Given the description of an element on the screen output the (x, y) to click on. 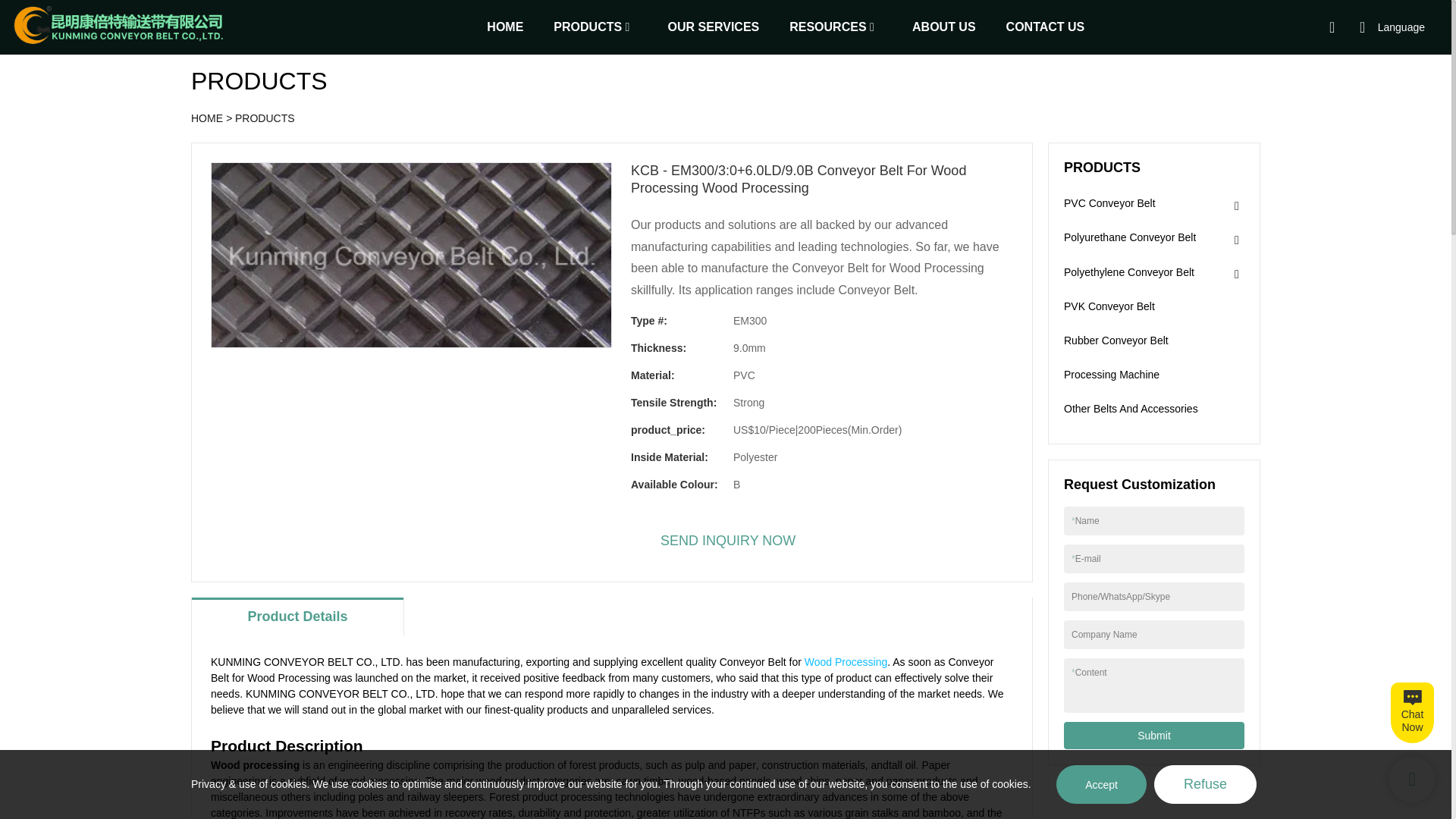
CONTACT US (1045, 26)
PVC Conveyor Belt (1110, 204)
Wood Processing (845, 662)
HOME (206, 118)
ABOUT US (943, 26)
PRODUCTS (587, 26)
OUR SERVICES (714, 26)
Wood Processing (845, 662)
RESOURCES (827, 26)
PRODUCTS (264, 118)
HOME (504, 26)
SEND INQUIRY NOW (727, 541)
